Given the description of an element on the screen output the (x, y) to click on. 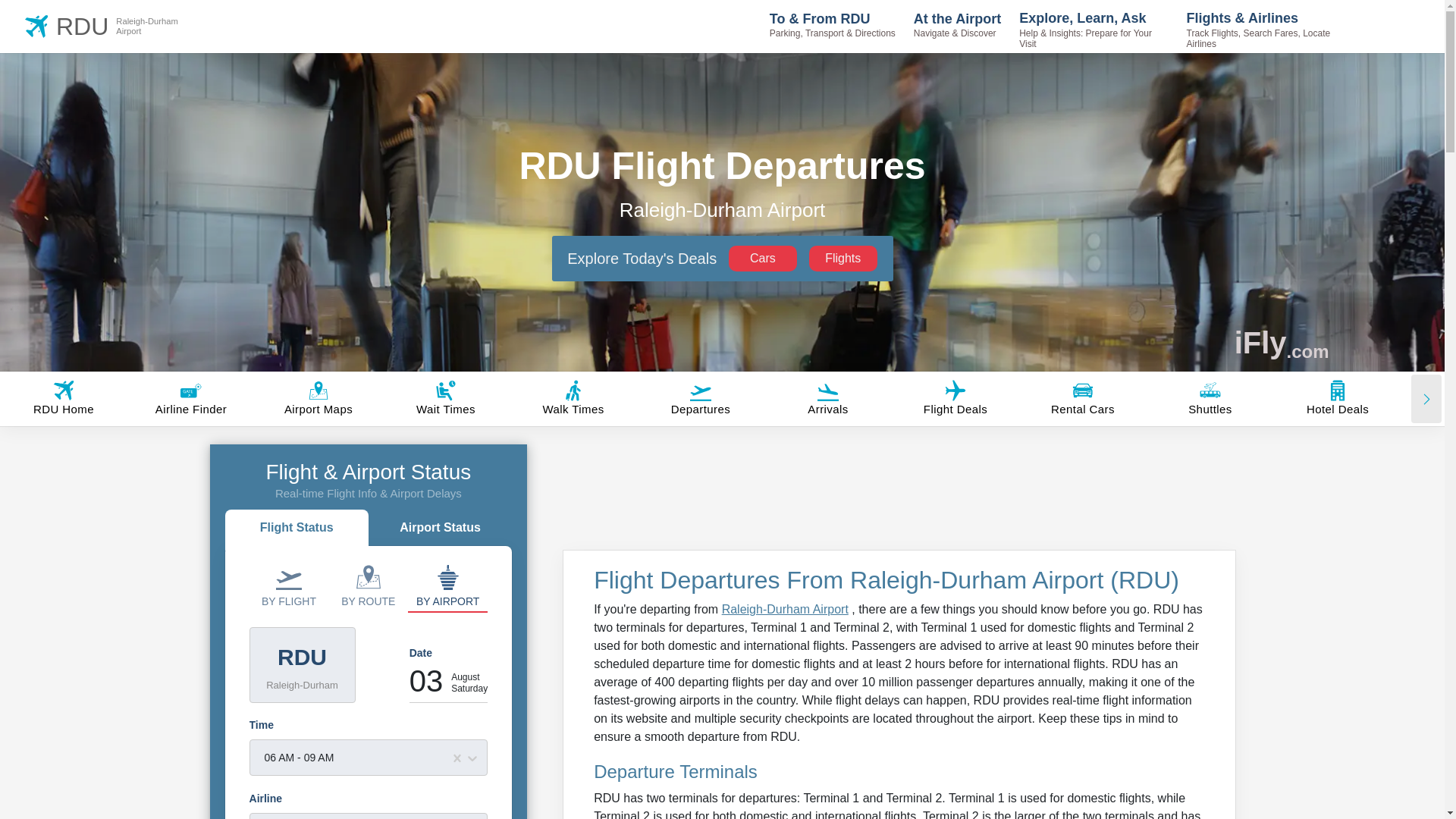
Flights (843, 258)
Cars (762, 258)
By Flight (288, 584)
By Airport (447, 584)
Flight Status (296, 529)
iFly.com (1281, 342)
By Route (368, 584)
Airport Status (114, 26)
